Given the description of an element on the screen output the (x, y) to click on. 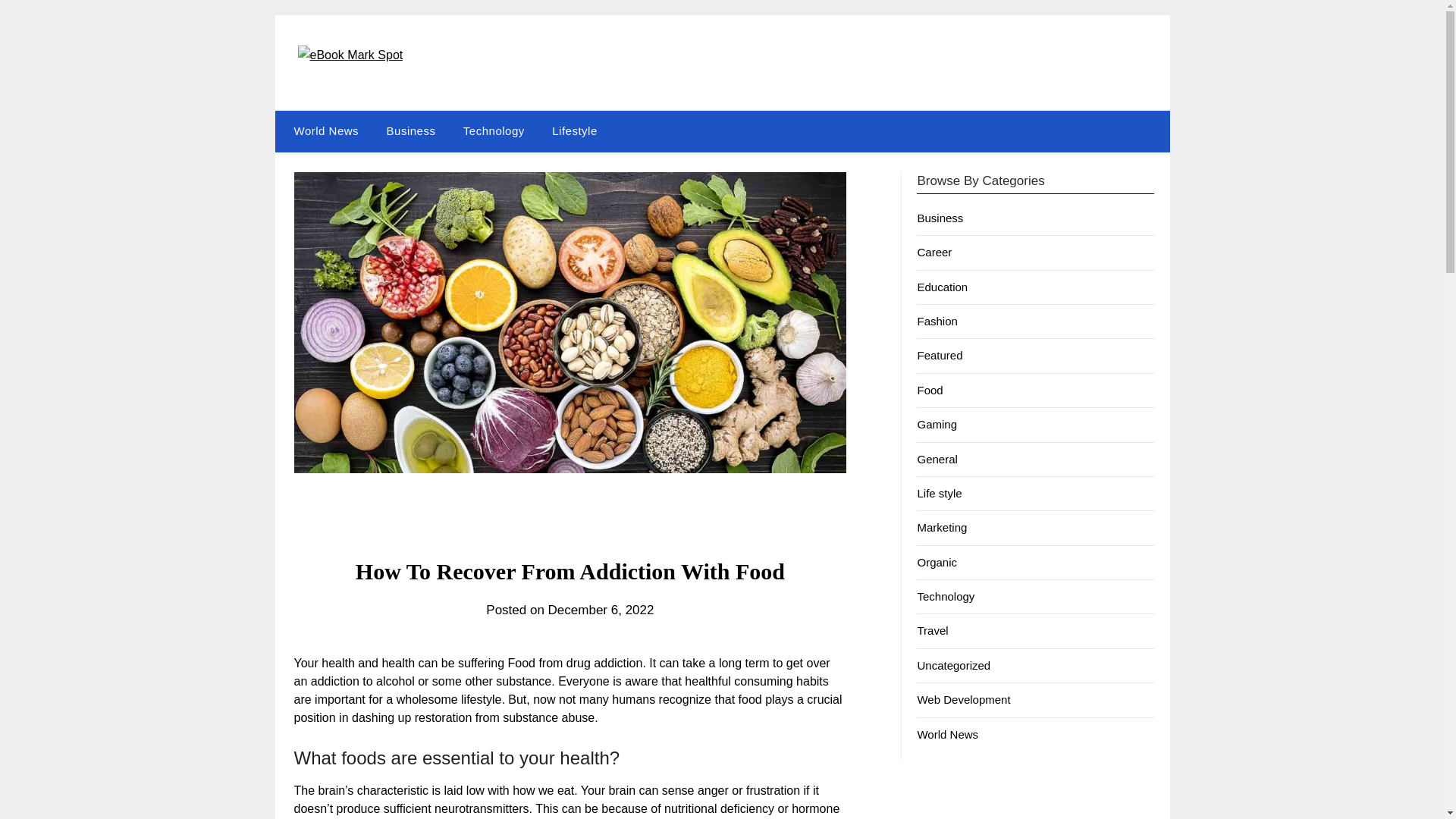
Education (942, 286)
Web Development (963, 698)
Gaming (936, 423)
Food (929, 390)
World News (323, 130)
Business (939, 217)
Fashion (936, 320)
Travel (932, 630)
Uncategorized (953, 665)
Technology (494, 130)
